Given the description of an element on the screen output the (x, y) to click on. 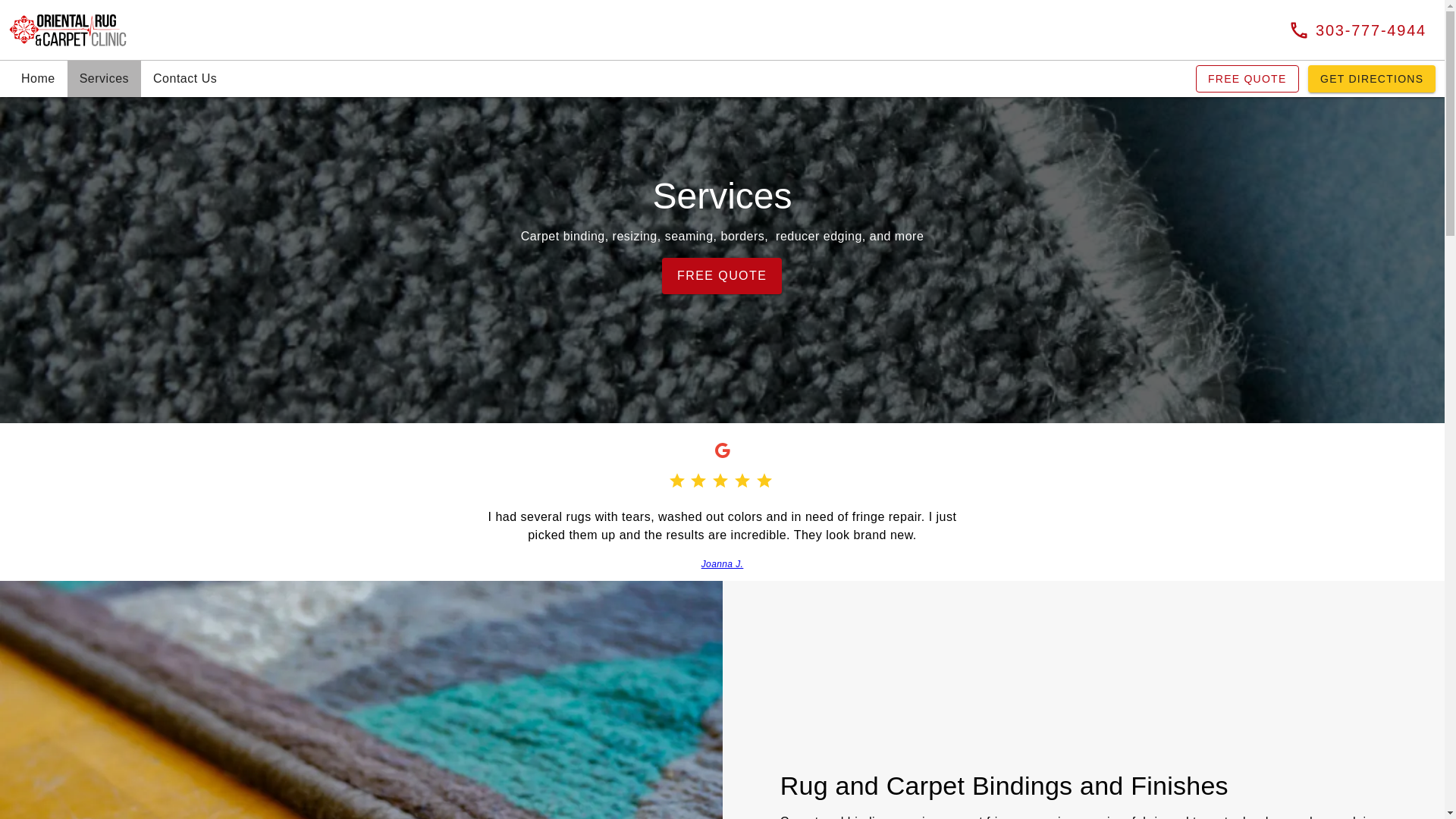
Google (721, 450)
GET DIRECTIONS (1371, 78)
Services (103, 78)
Contact Us (184, 78)
Home (37, 78)
FREE QUOTE (721, 275)
303-777-4944 (1357, 30)
FREE QUOTE (1246, 78)
Joanna J. (722, 563)
